Given the description of an element on the screen output the (x, y) to click on. 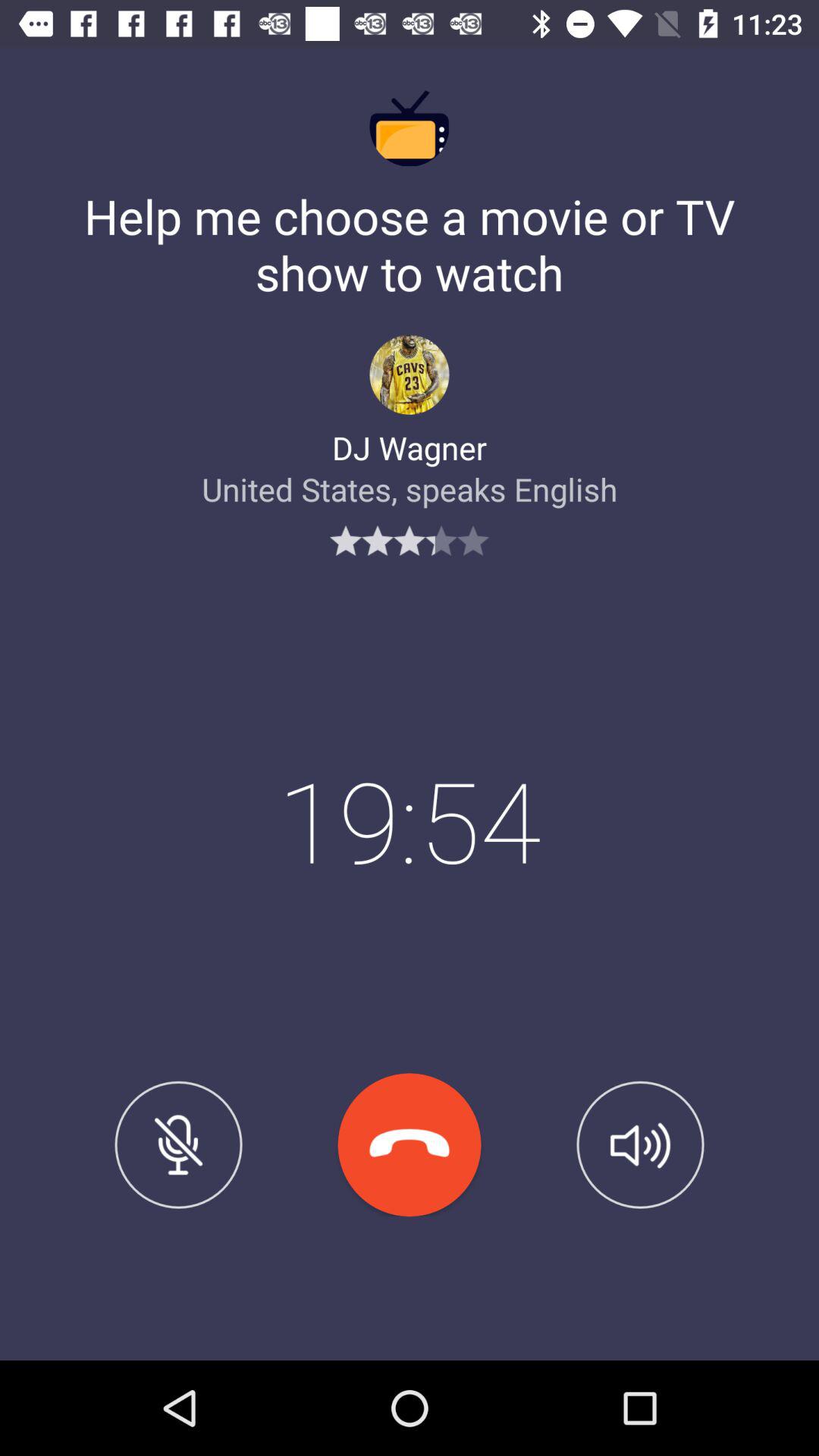
click the item below united states speaks icon (640, 1144)
